Given the description of an element on the screen output the (x, y) to click on. 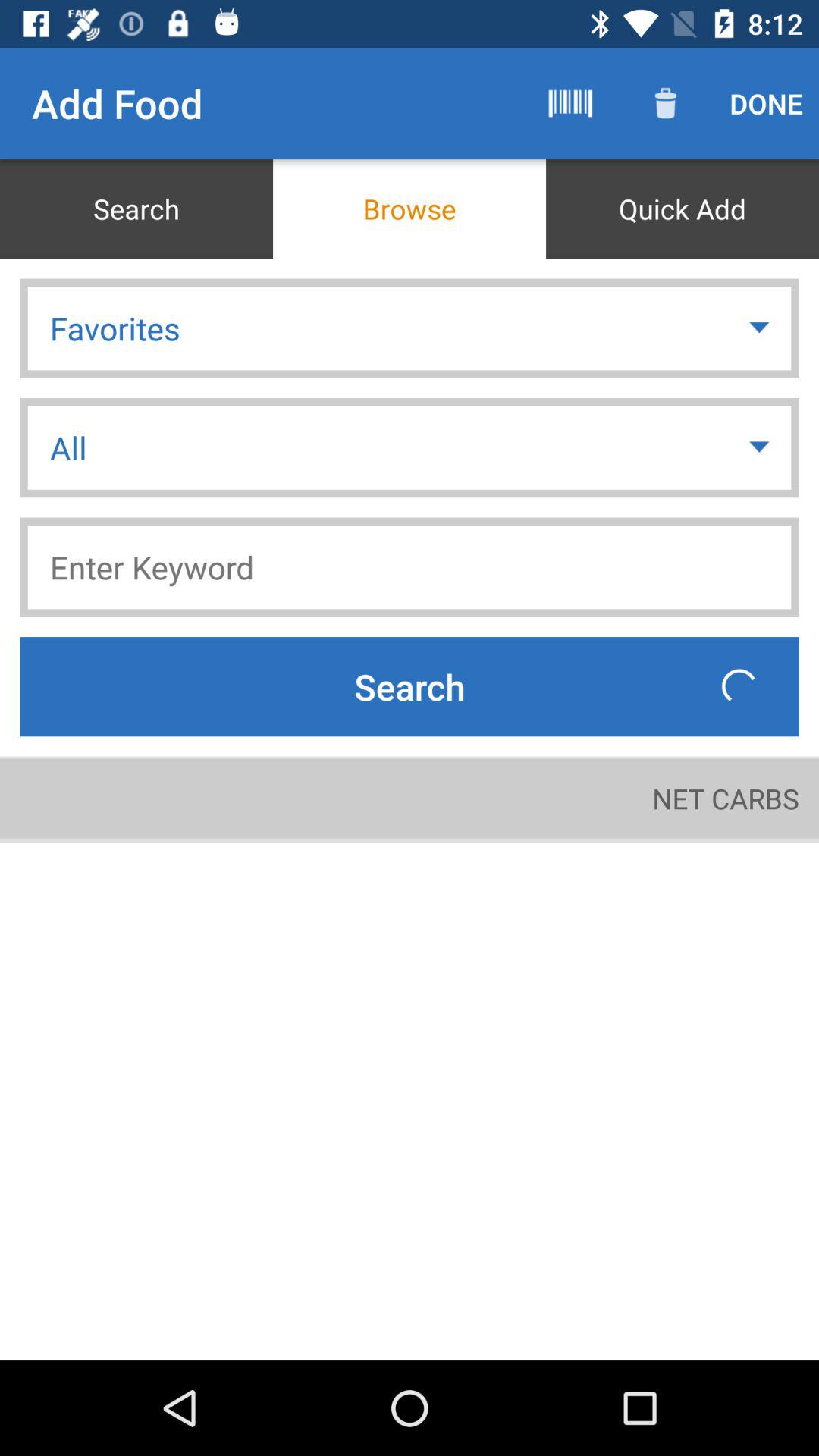
open favorites item (409, 328)
